Given the description of an element on the screen output the (x, y) to click on. 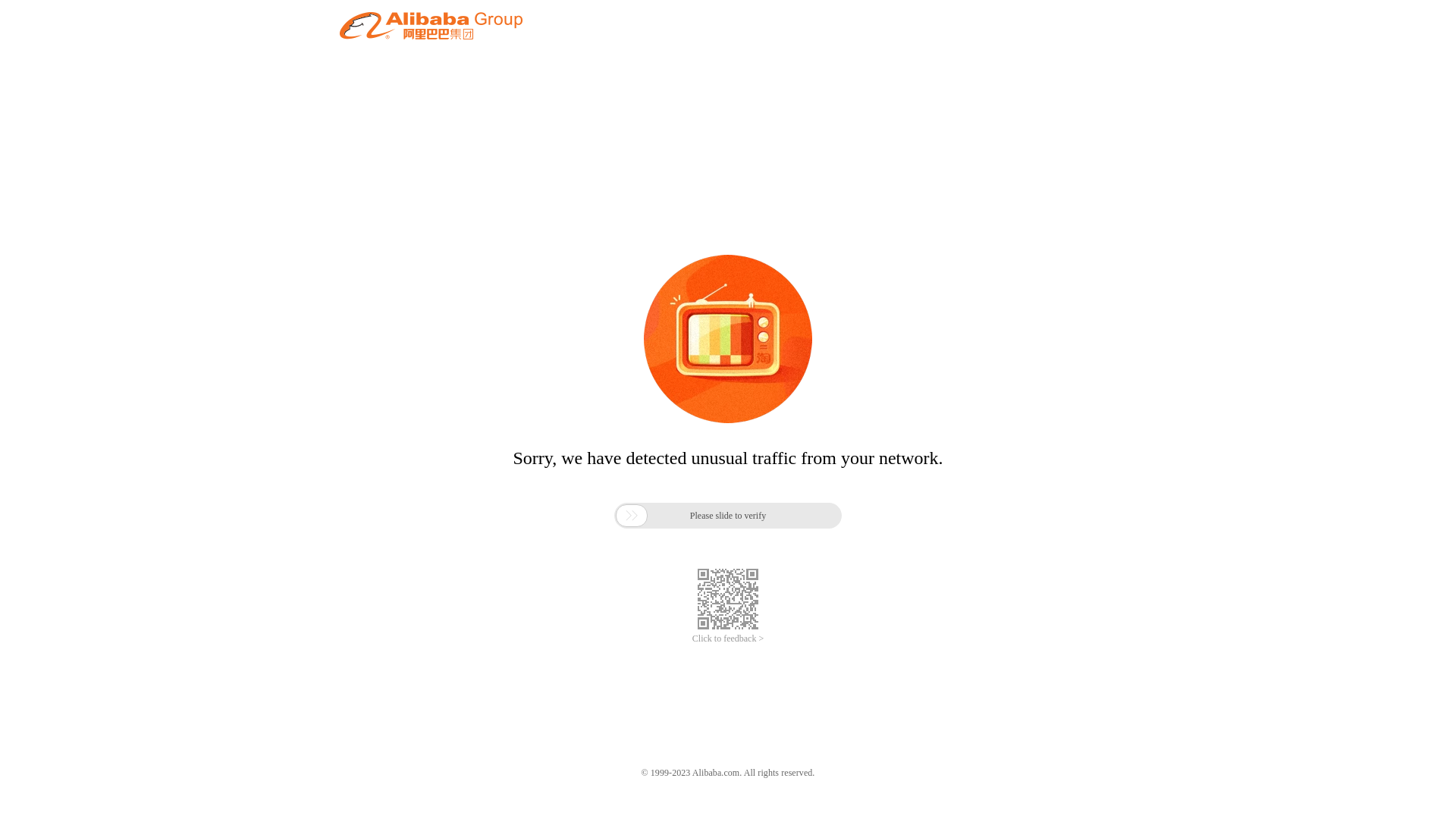
Click to feedback > Element type: text (727, 638)
